Given the description of an element on the screen output the (x, y) to click on. 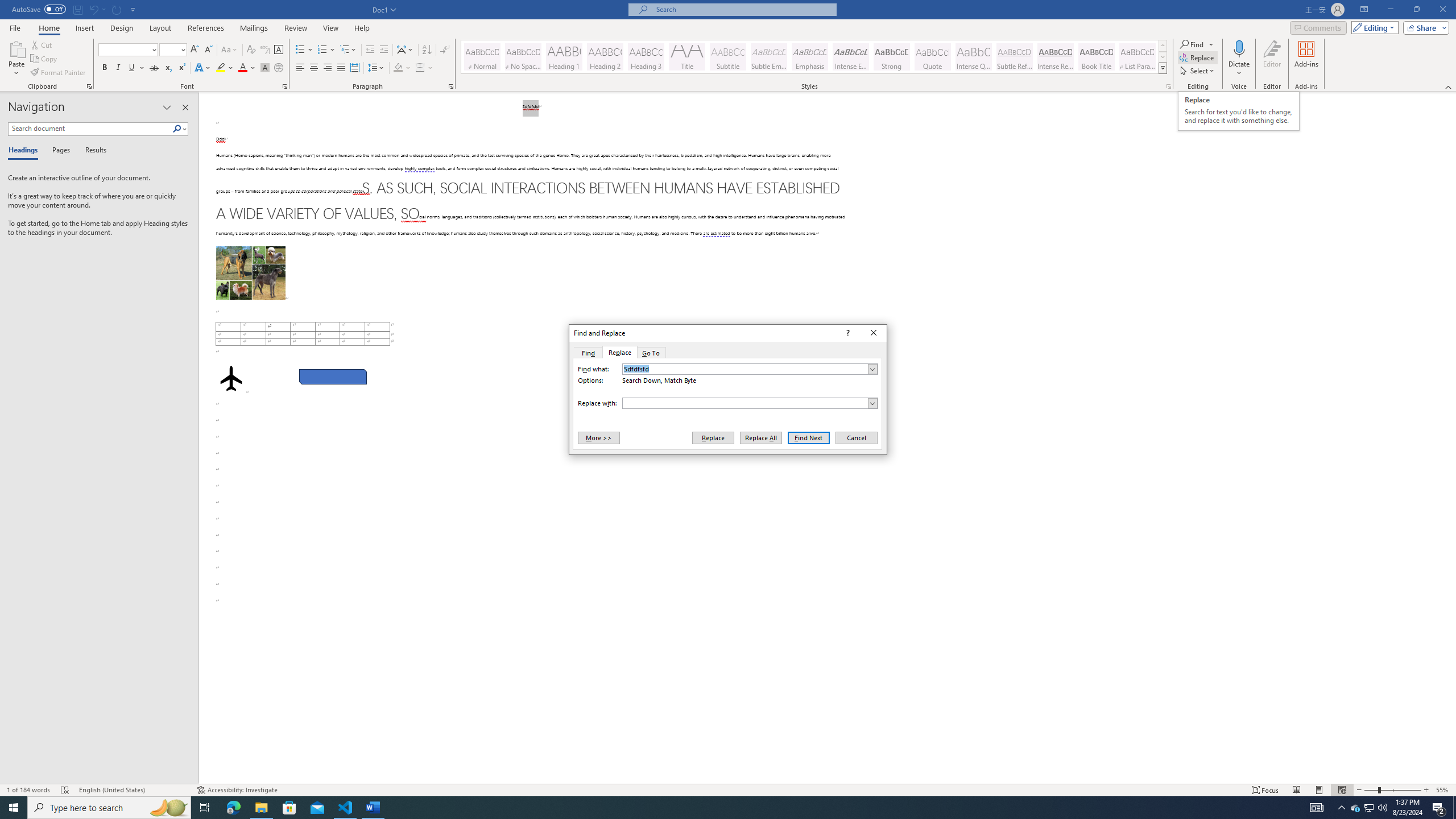
Search highlights icon opens search home window (167, 807)
Change Case (229, 49)
Multilevel List (347, 49)
AutomationID: QuickStylesGallery (814, 56)
Subtle Reference (1014, 56)
Task View (204, 807)
